Given the description of an element on the screen output the (x, y) to click on. 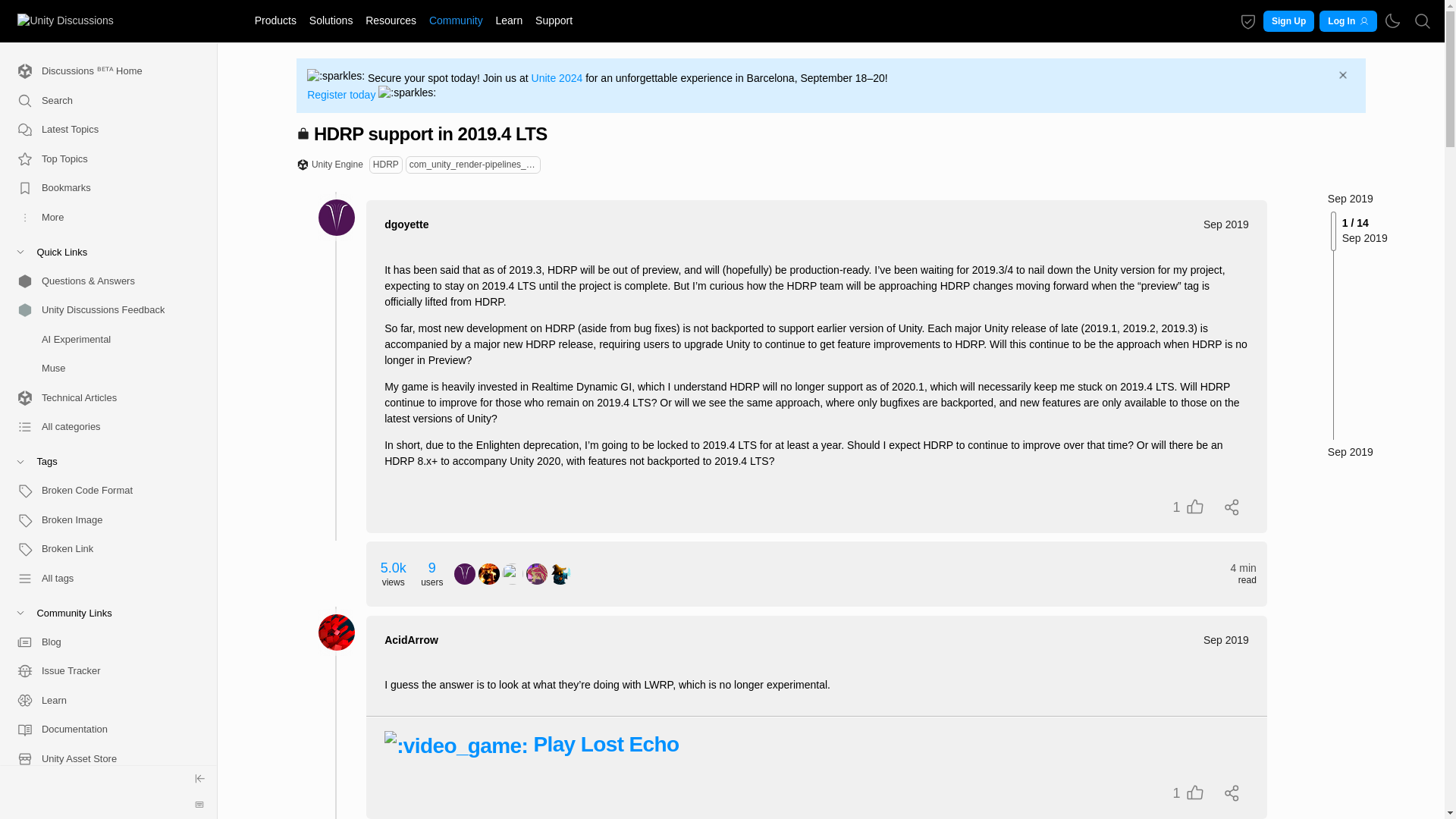
Toggle section (102, 461)
Learn (509, 20)
Cookie settings (1248, 21)
Toggle color scheme (1392, 21)
Blog (102, 641)
Resources (391, 20)
Toggle section (102, 612)
All topics (102, 129)
Welcome to the Technical Articles category. (102, 397)
Unity Asset Store (102, 758)
